Given the description of an element on the screen output the (x, y) to click on. 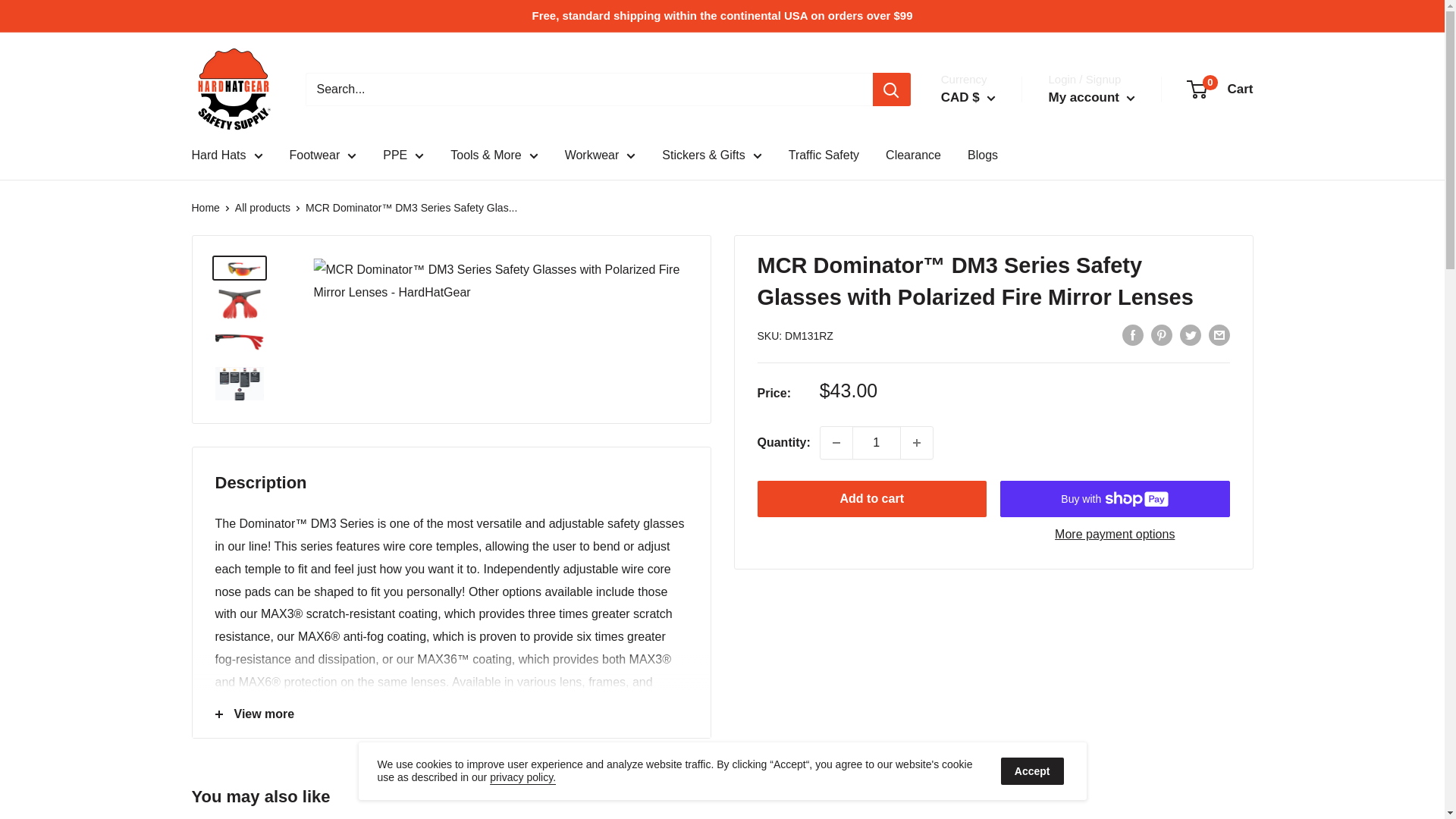
1 (876, 442)
Increase quantity by 1 (917, 442)
Decrease quantity by 1 (836, 442)
HardHatGear Private Policy (522, 776)
